Given the description of an element on the screen output the (x, y) to click on. 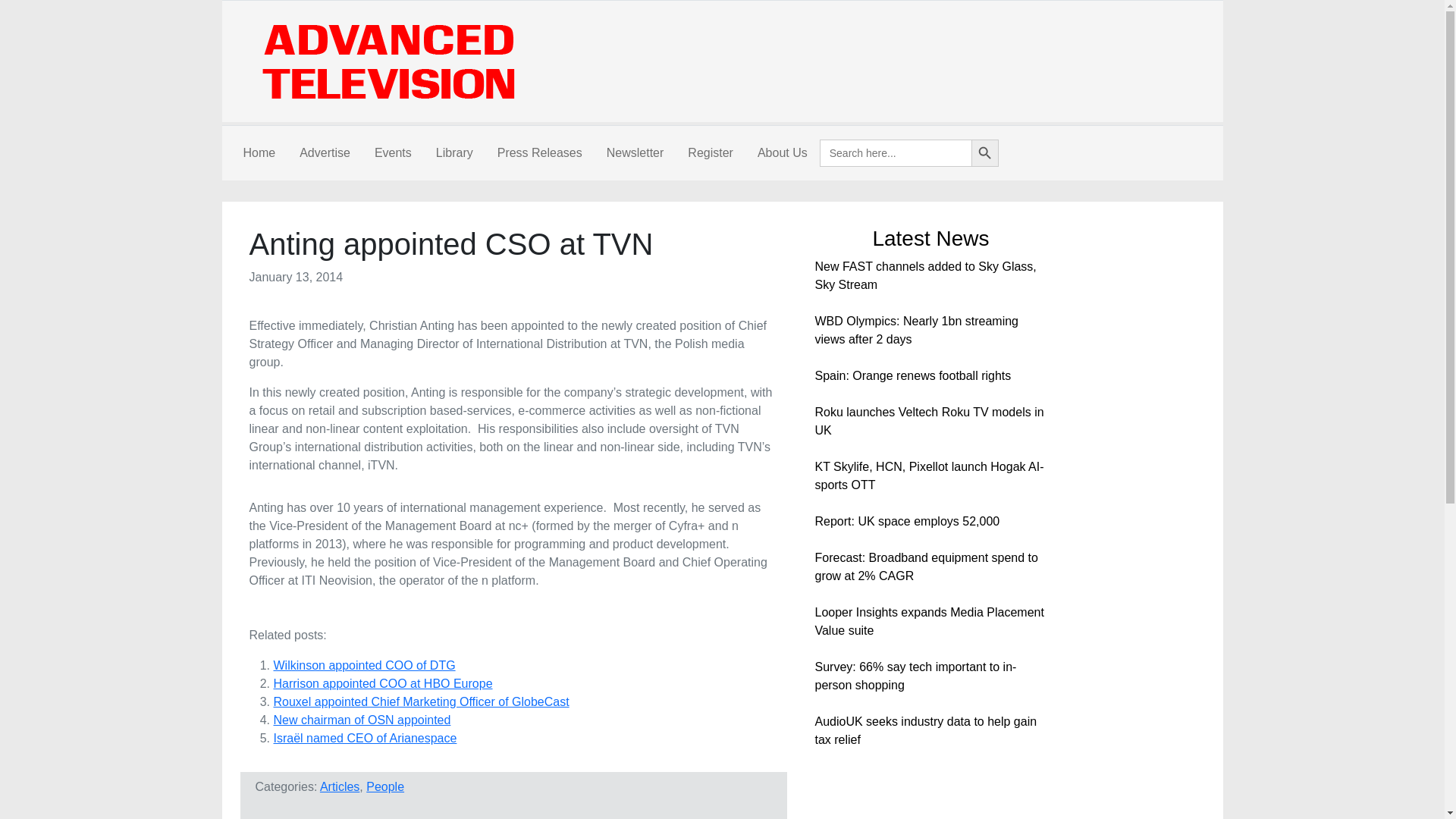
Advertise (324, 153)
Harrison appointed COO at HBO Europe (382, 683)
Search Button (984, 153)
About Us (782, 153)
New FAST channels added to Sky Glass, Sky Stream (924, 275)
Library (453, 153)
Articles (339, 786)
Spain: Orange renews football rights (911, 375)
AudioUK seeks industry data to help gain tax relief (924, 730)
Newsletter (635, 153)
WBD Olympics: Nearly 1bn streaming views after 2 days (915, 329)
New chairman of OSN appointed (361, 719)
Events (392, 153)
Looper Insights expands Media Placement Value suite (928, 621)
Roku launches Veltech Roku TV models in UK (928, 420)
